Given the description of an element on the screen output the (x, y) to click on. 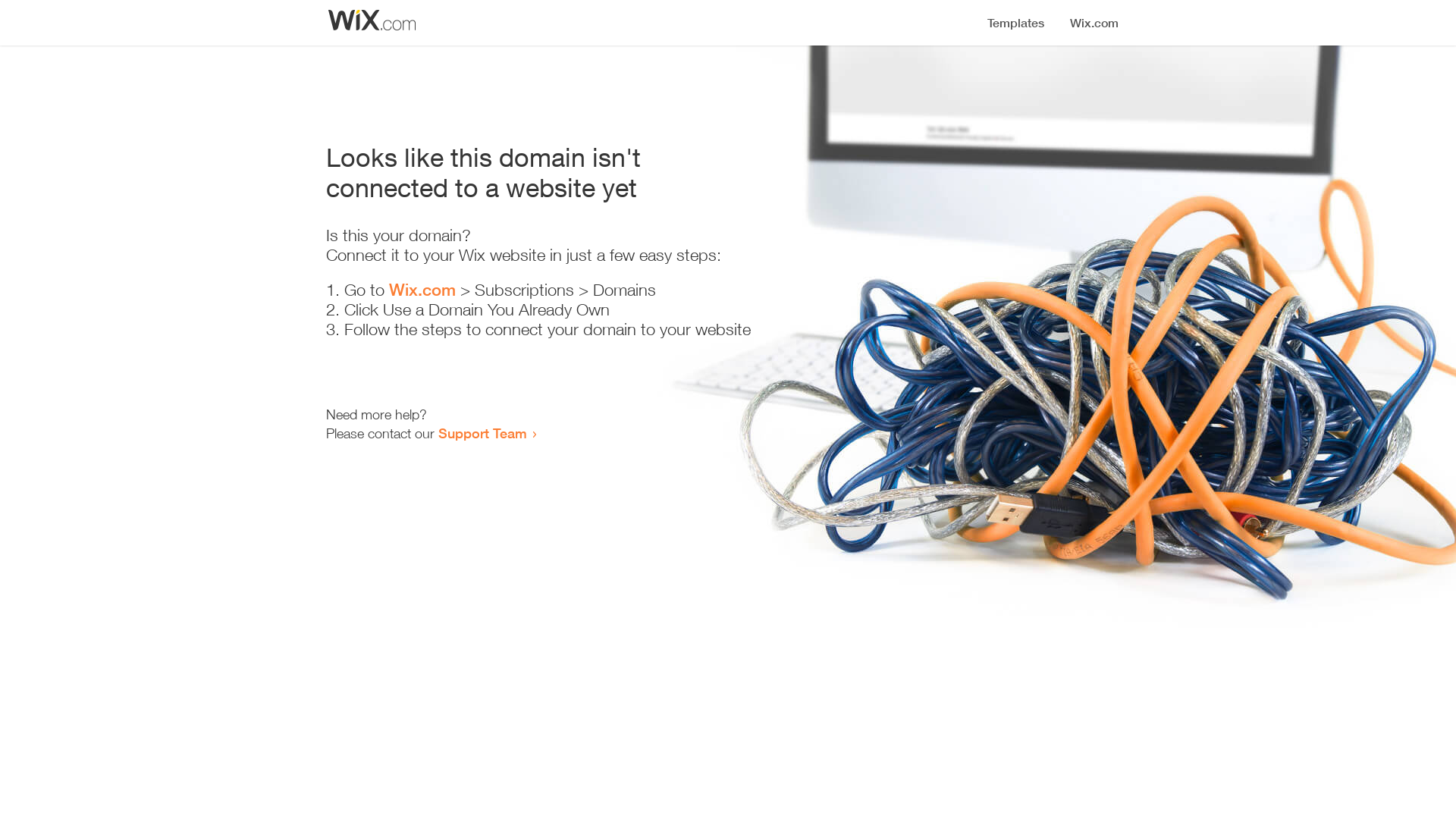
Wix.com Element type: text (422, 289)
Support Team Element type: text (482, 432)
